Given the description of an element on the screen output the (x, y) to click on. 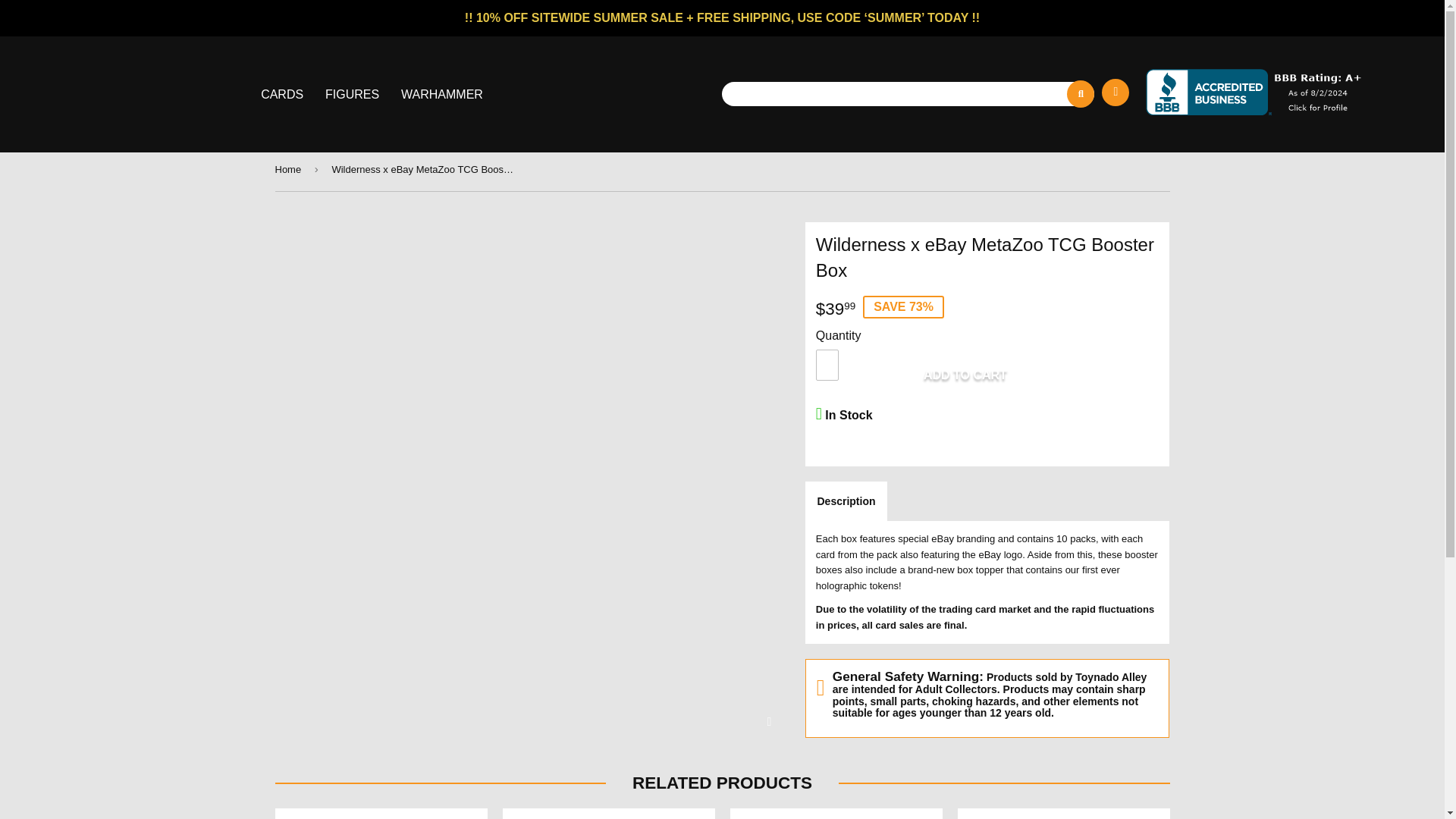
WARHAMMER (441, 94)
CARDS (283, 94)
FIGURES (353, 94)
Back to the frontpage (290, 169)
